Given the description of an element on the screen output the (x, y) to click on. 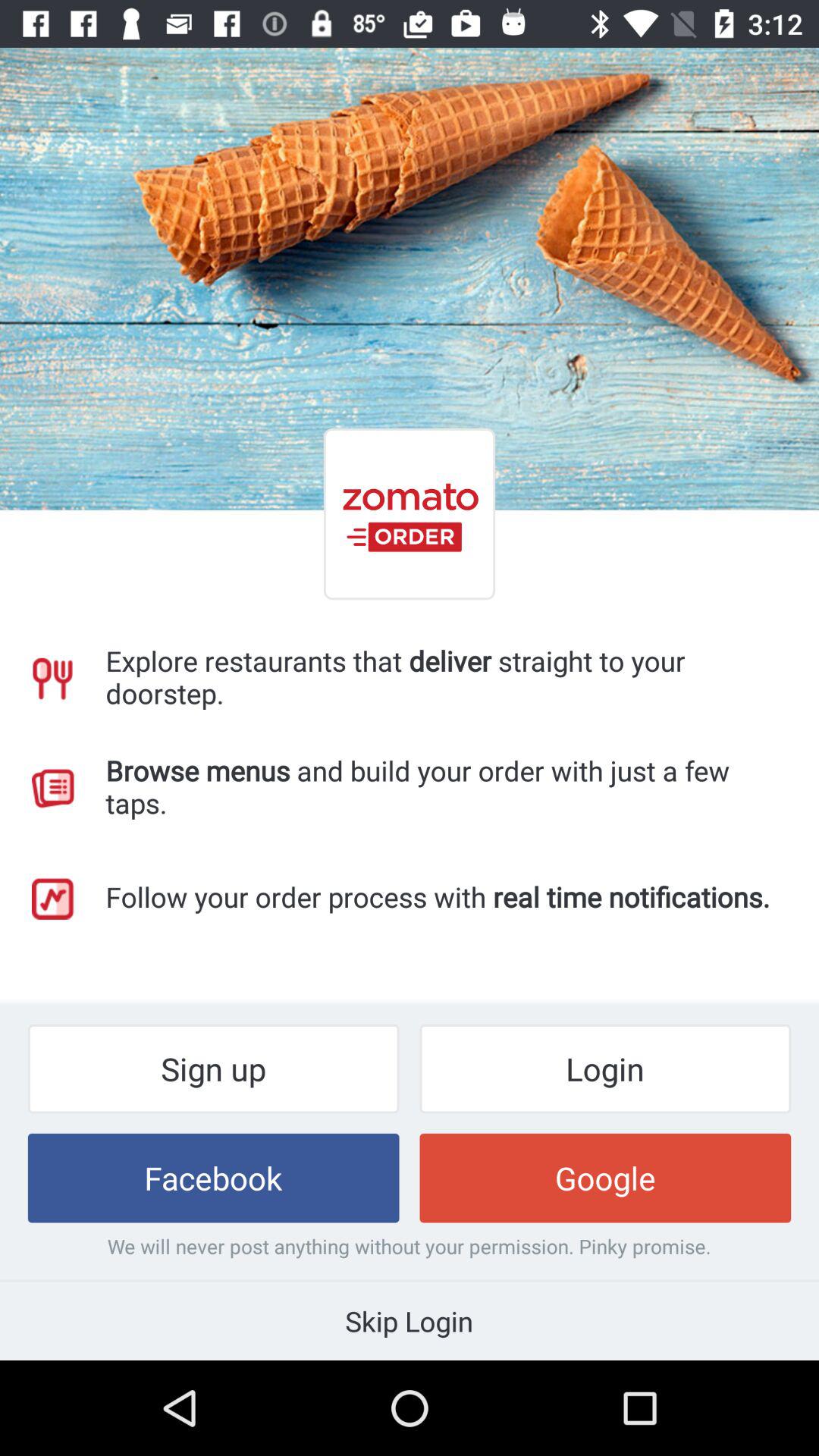
launch item next to facebook item (605, 1177)
